Given the description of an element on the screen output the (x, y) to click on. 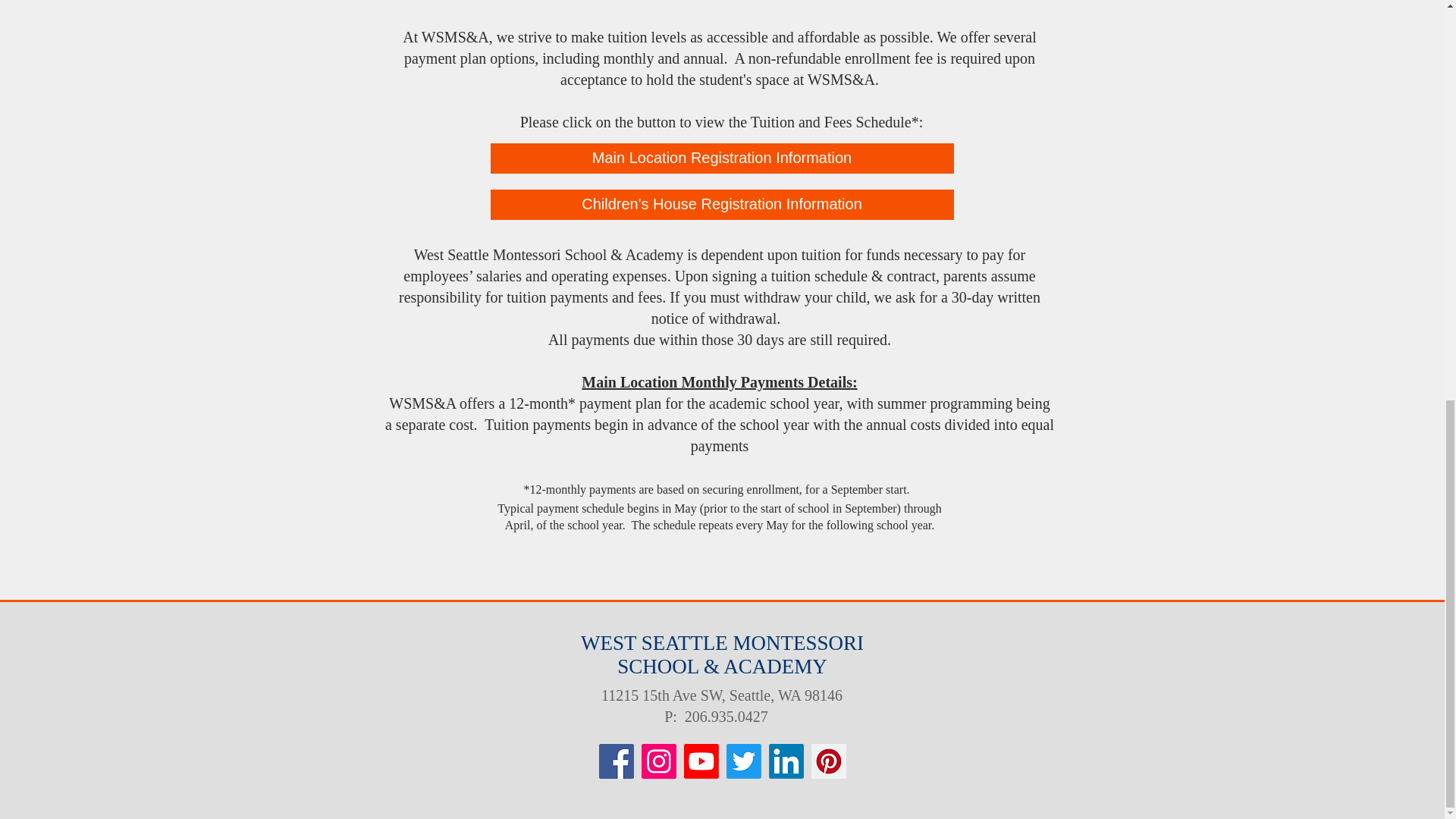
Main Location Registration Information (721, 157)
Children's House Registration Information (721, 204)
